Given the description of an element on the screen output the (x, y) to click on. 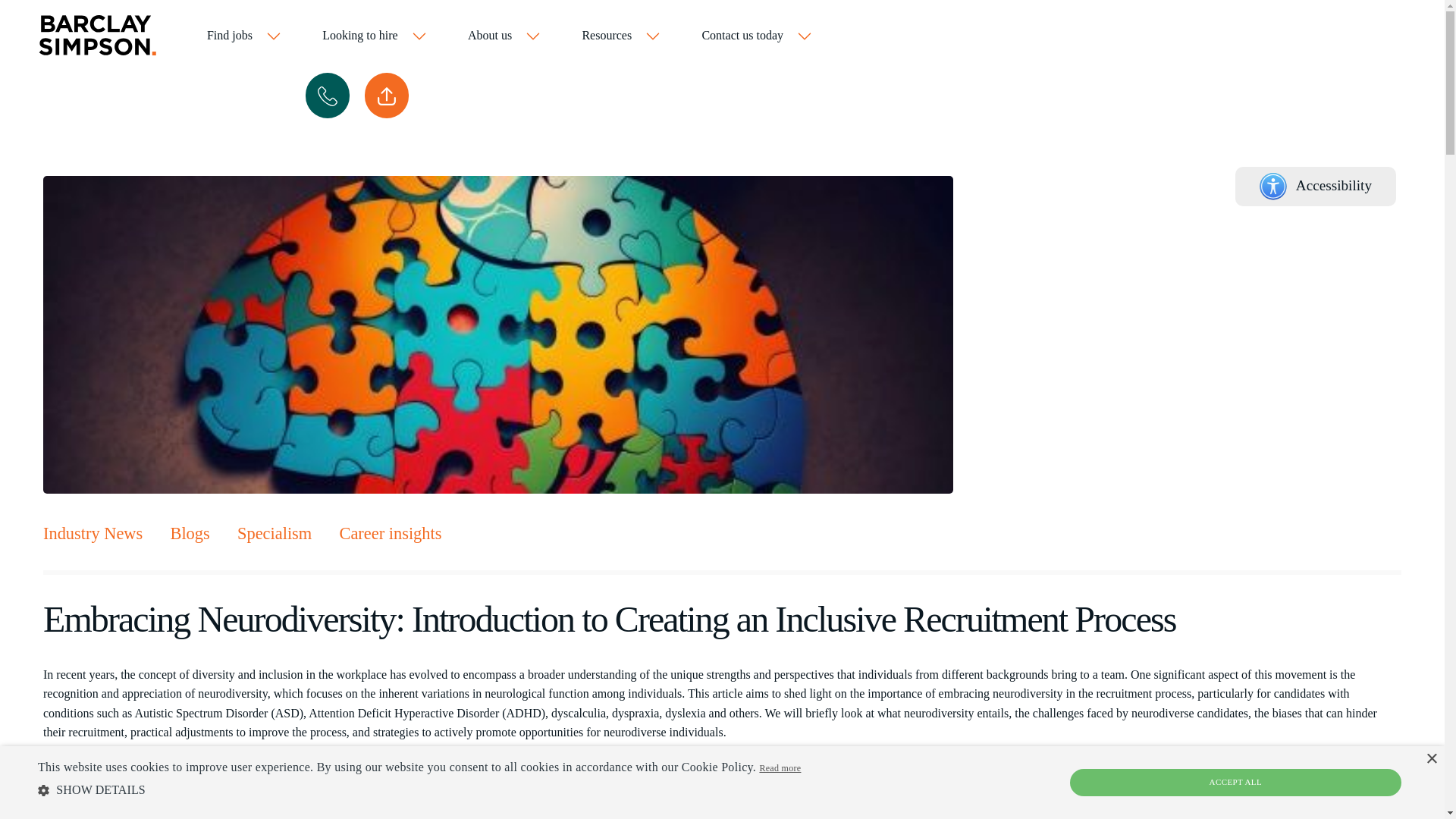
Find jobs (244, 36)
Looking to hire (374, 36)
